Given the description of an element on the screen output the (x, y) to click on. 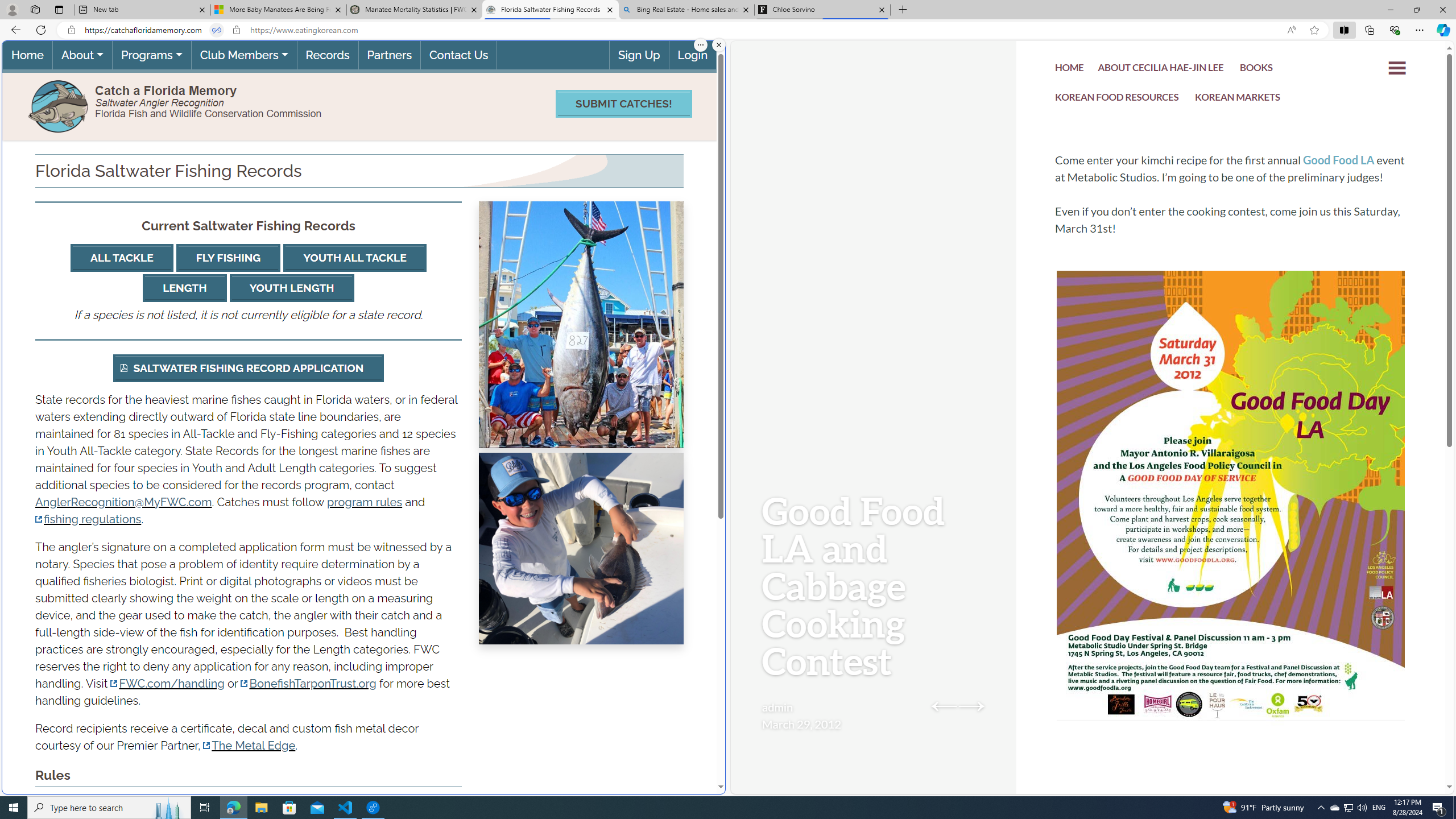
Records (327, 54)
Partners (389, 54)
admin (777, 707)
ALL TACKLE (121, 258)
good food la poster (1230, 530)
Club Members (243, 54)
ABOUT CECILIA HAE-JIN LEE (1160, 70)
